Given the description of an element on the screen output the (x, y) to click on. 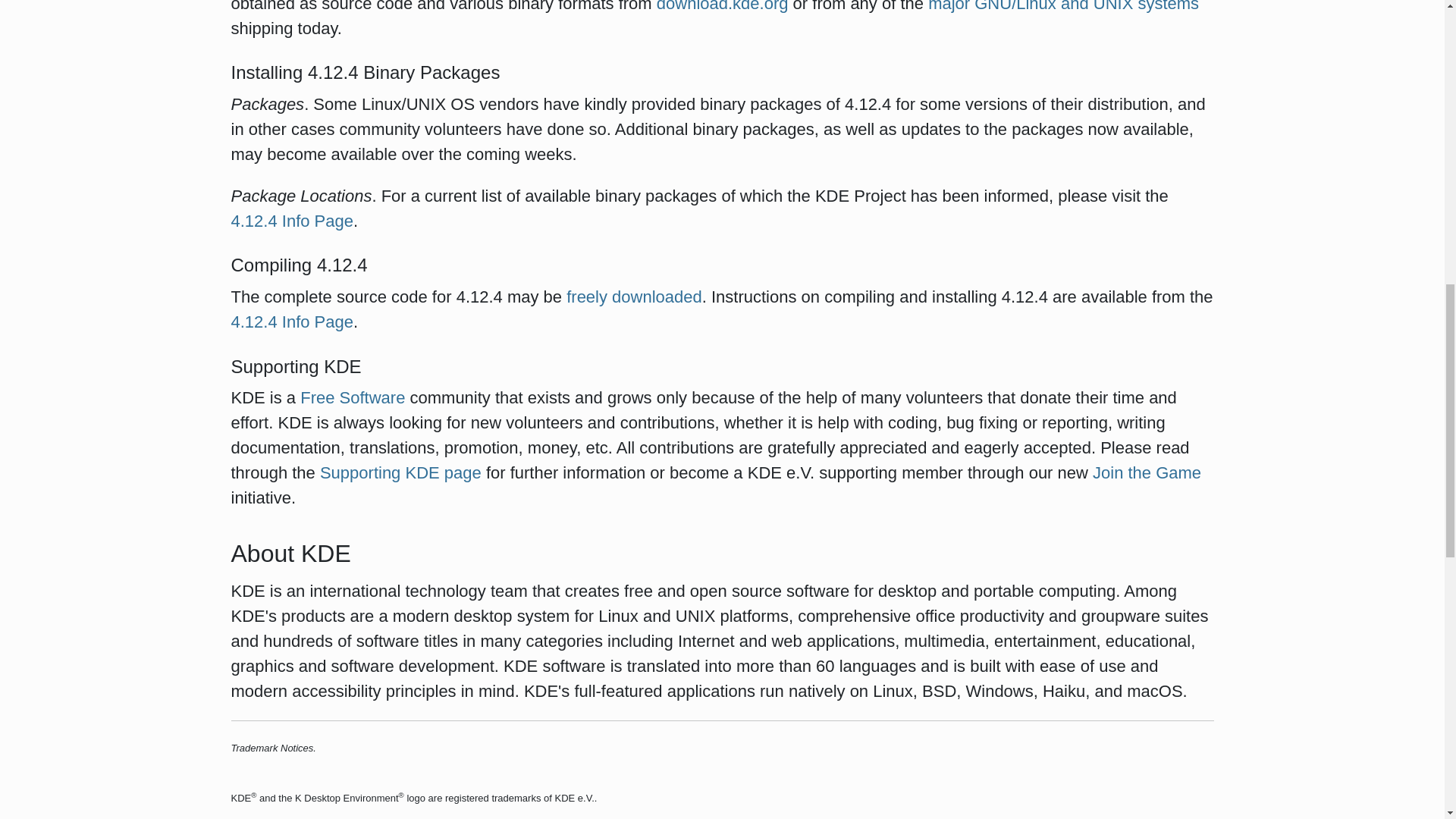
Supporting KDE page (400, 472)
4.12.4 Info Page (291, 321)
download.kde.org (722, 6)
freely downloaded (633, 296)
Join the Game (1147, 472)
Free Software (351, 397)
4.12.4 Info Page (291, 220)
